Given the description of an element on the screen output the (x, y) to click on. 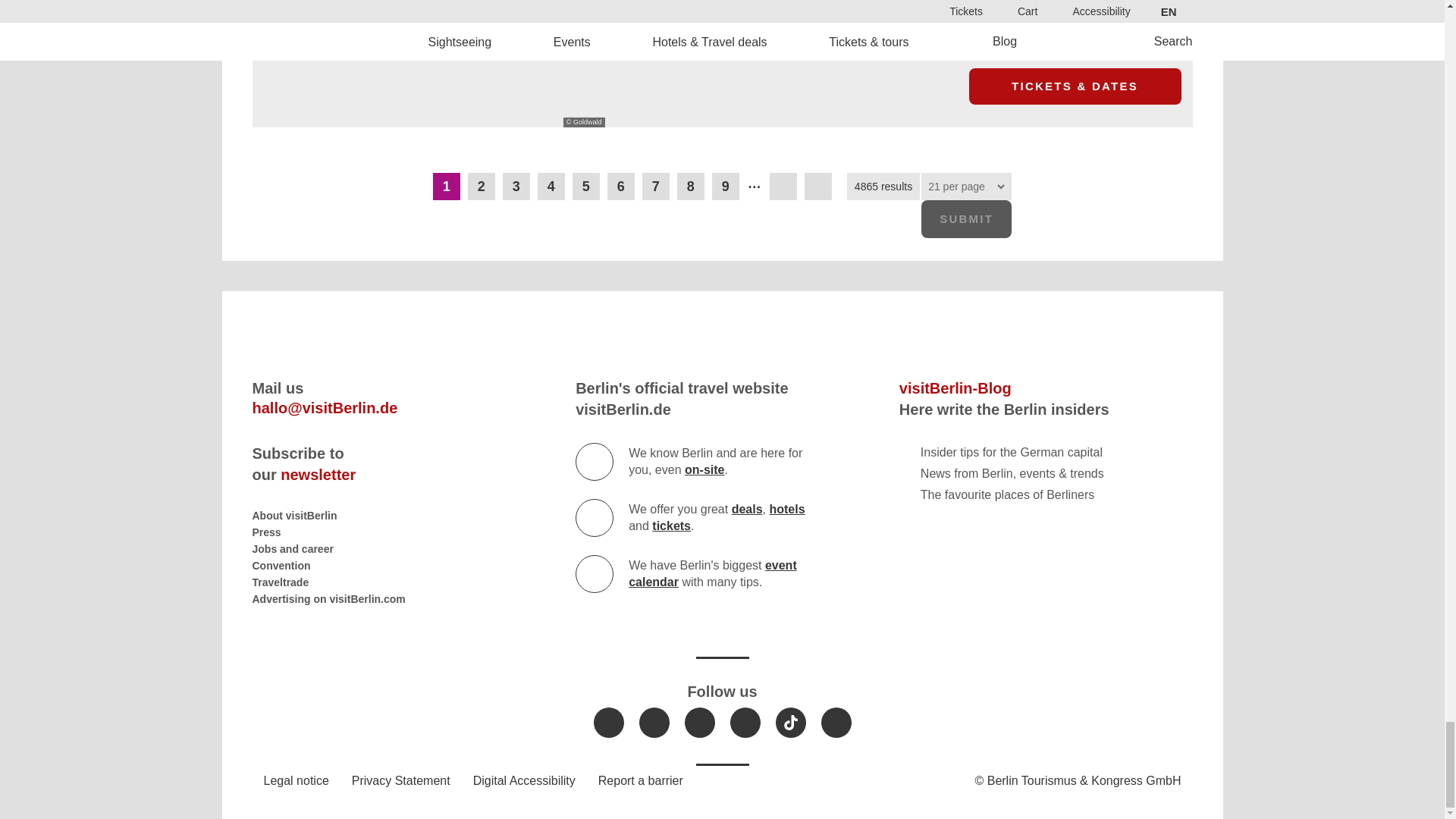
Submit (966, 218)
